Given the description of an element on the screen output the (x, y) to click on. 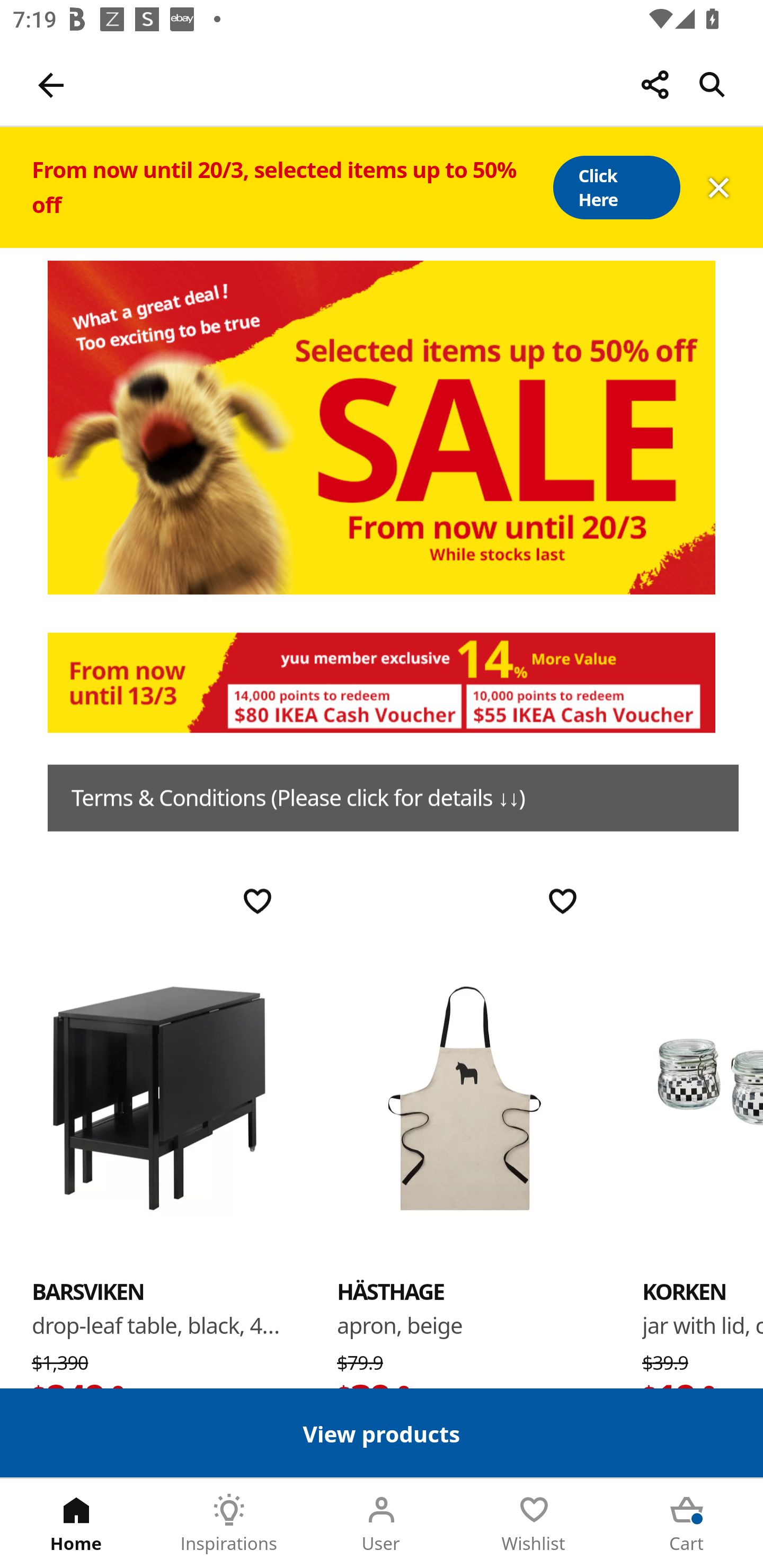
Click Here (615, 187)
Terms & Conditions (Please click for details ↓↓) (393, 798)
BARSVIKEN (159, 1096)
HÄSTHAGE (464, 1096)
KORKEN (702, 1096)
BARSVIKEN (88, 1290)
HÄSTHAGE (390, 1290)
KORKEN (684, 1290)
View products (381, 1432)
Home
Tab 1 of 5 (76, 1522)
Inspirations
Tab 2 of 5 (228, 1522)
User
Tab 3 of 5 (381, 1522)
Wishlist
Tab 4 of 5 (533, 1522)
Cart
Tab 5 of 5 (686, 1522)
